Given the description of an element on the screen output the (x, y) to click on. 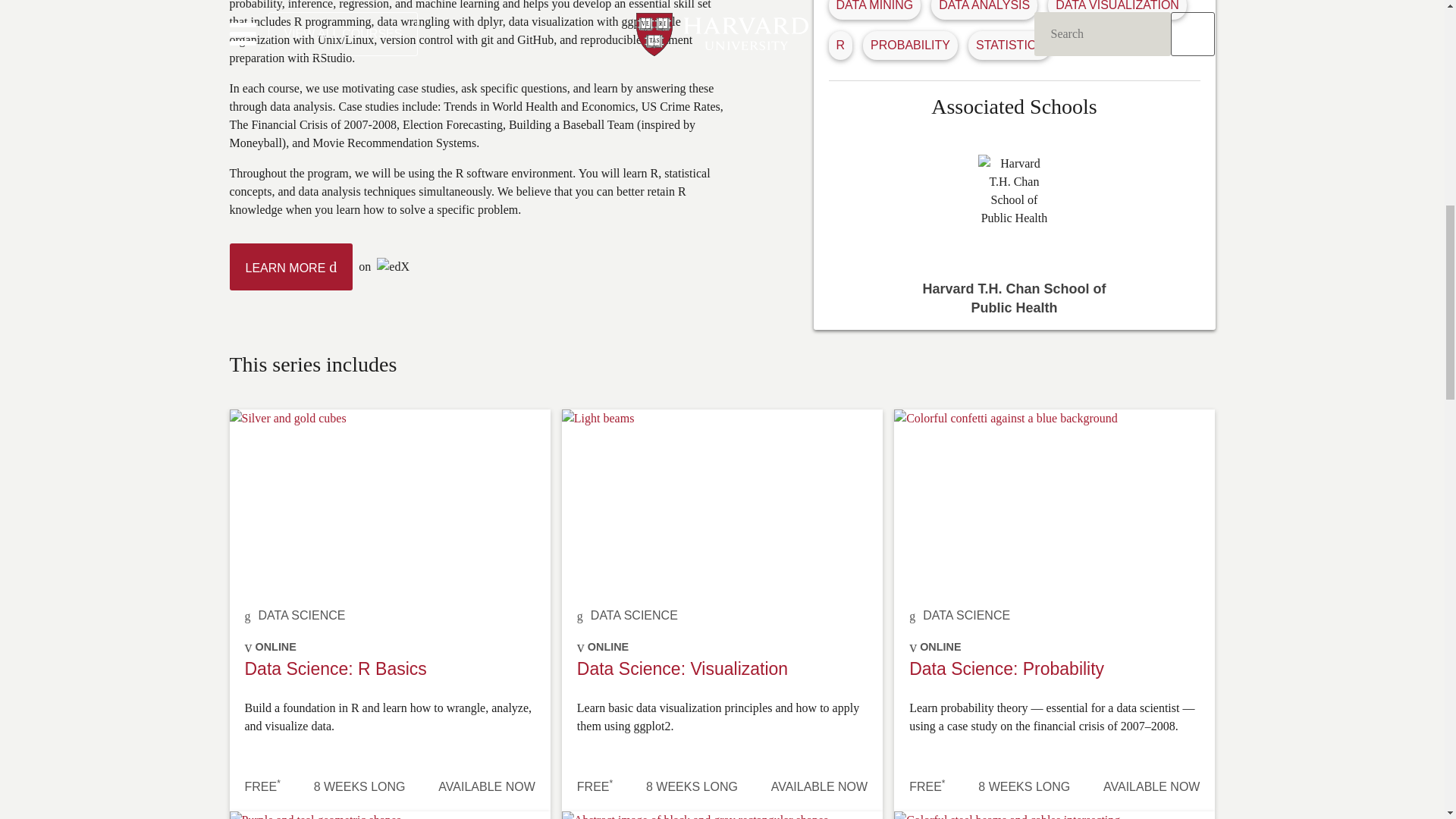
DATA VISUALIZATION (1117, 5)
LEARN MORE (290, 266)
DATA ANALYSIS (984, 5)
DATA SCIENCE (634, 615)
PROBABILITY (910, 44)
Data Science: Visualization (681, 668)
STATISTICS (1009, 44)
Data Science: R Basics (335, 668)
DATA SCIENCE (301, 615)
DATA MINING (873, 5)
